Given the description of an element on the screen output the (x, y) to click on. 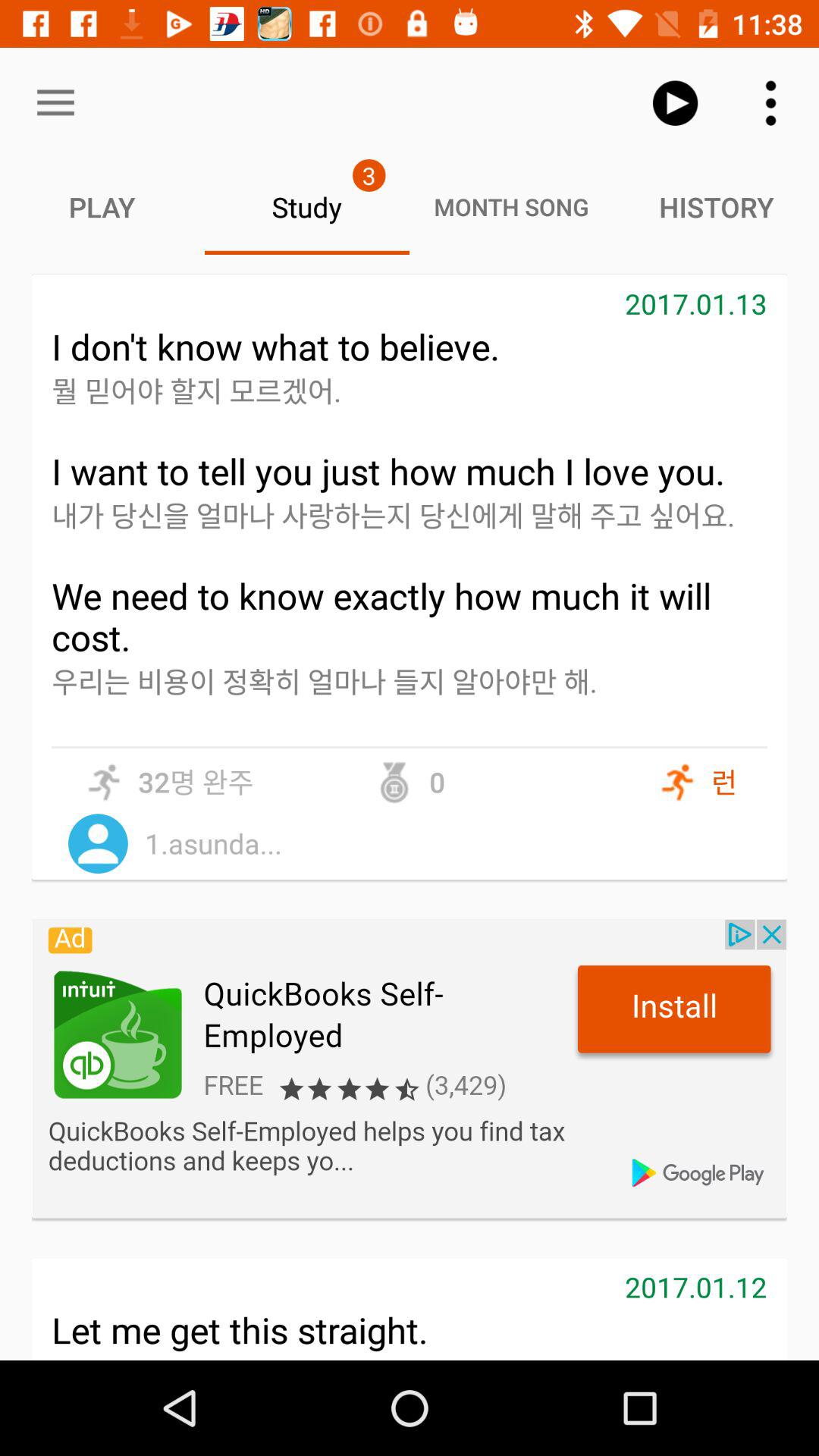
advertisement (409, 1068)
